Given the description of an element on the screen output the (x, y) to click on. 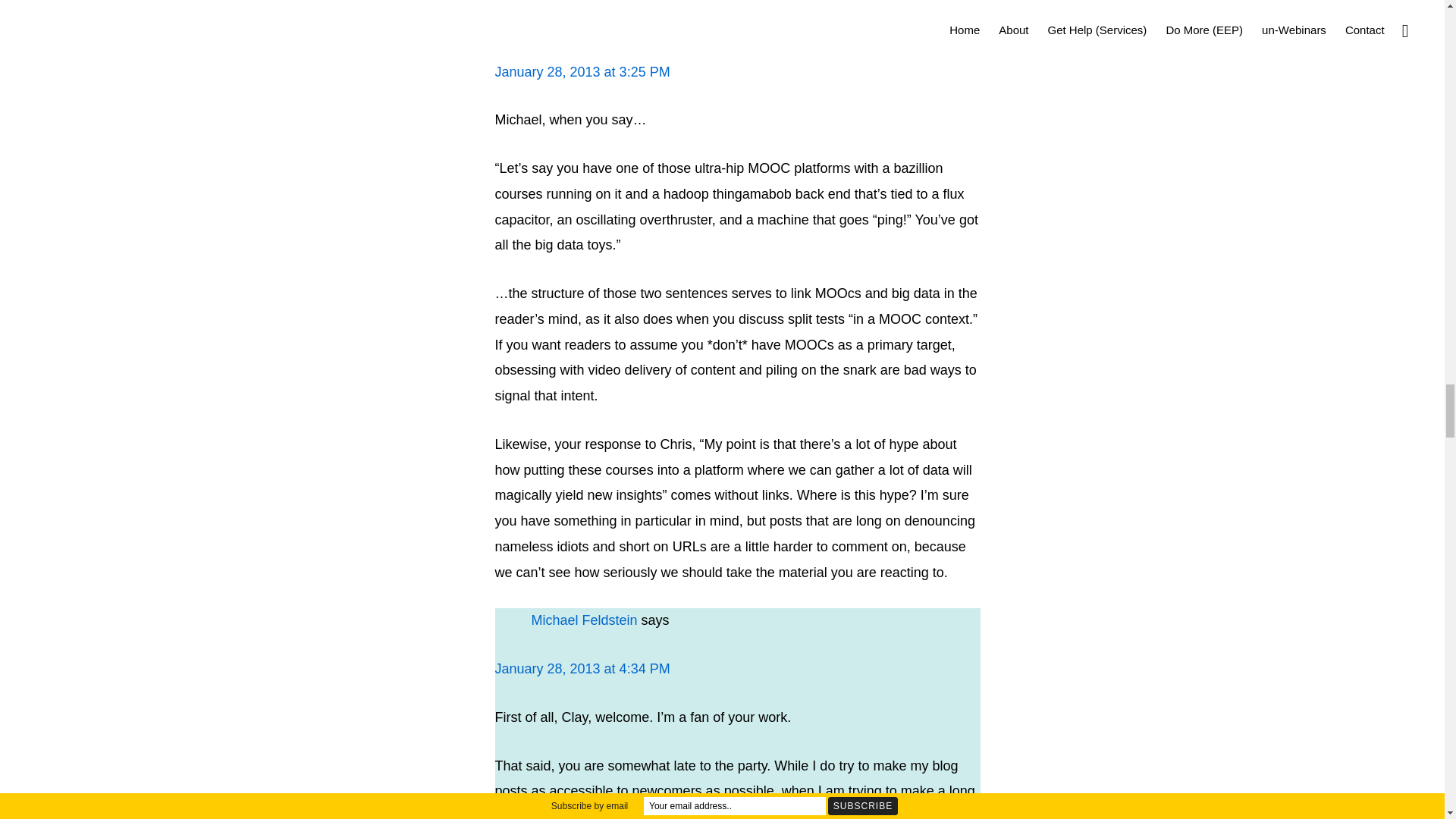
Michael Feldstein (584, 620)
January 28, 2013 at 3:25 PM (582, 71)
January 28, 2013 at 4:34 PM (582, 668)
